Given the description of an element on the screen output the (x, y) to click on. 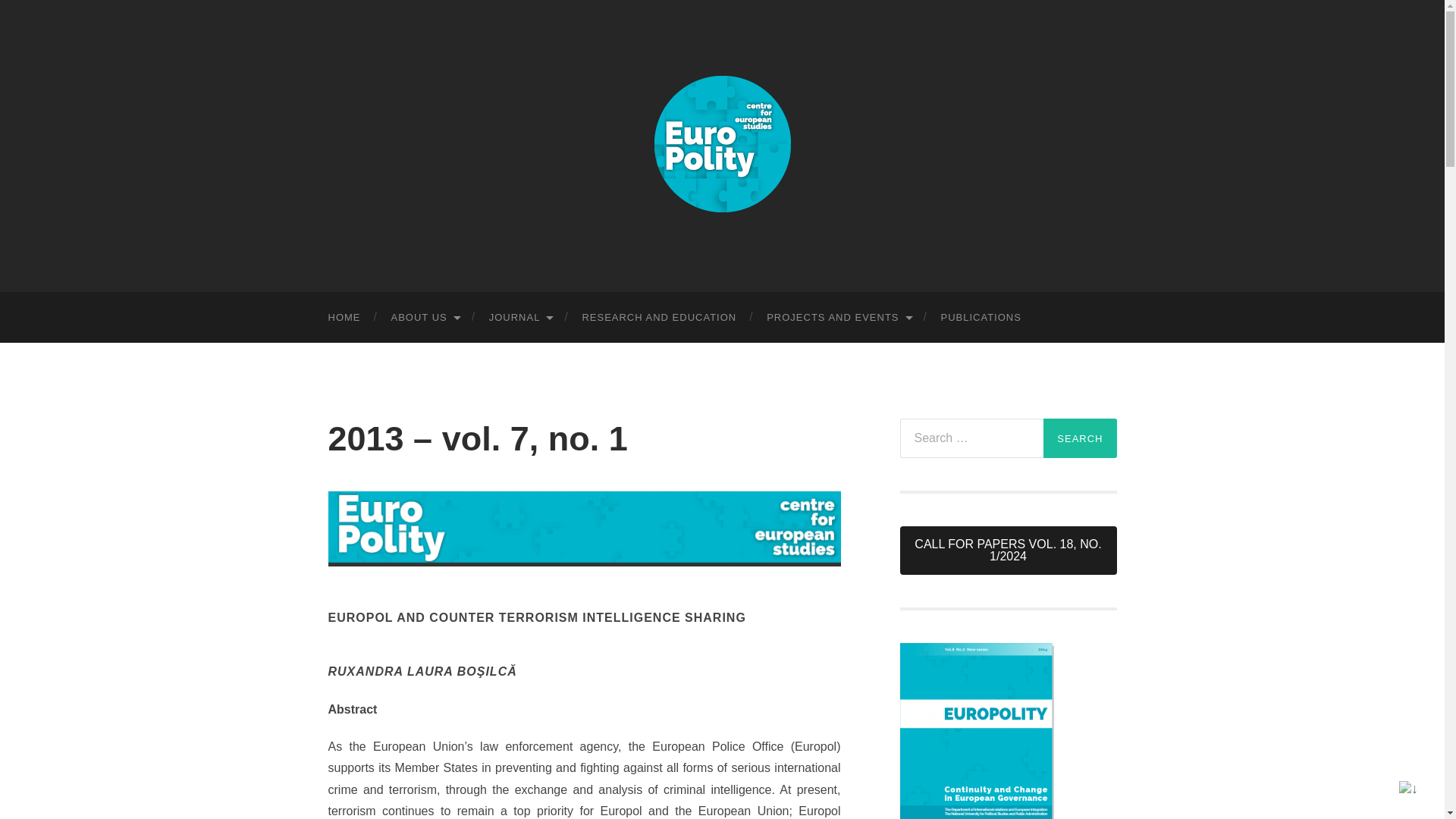
Search (1079, 437)
Centrul de Studii Europene (721, 144)
Search (1079, 437)
RESEARCH AND EDUCATION (658, 317)
PROJECTS AND EVENTS (837, 317)
HOME (344, 317)
JOURNAL (520, 317)
ABOUT US (424, 317)
